Given the description of an element on the screen output the (x, y) to click on. 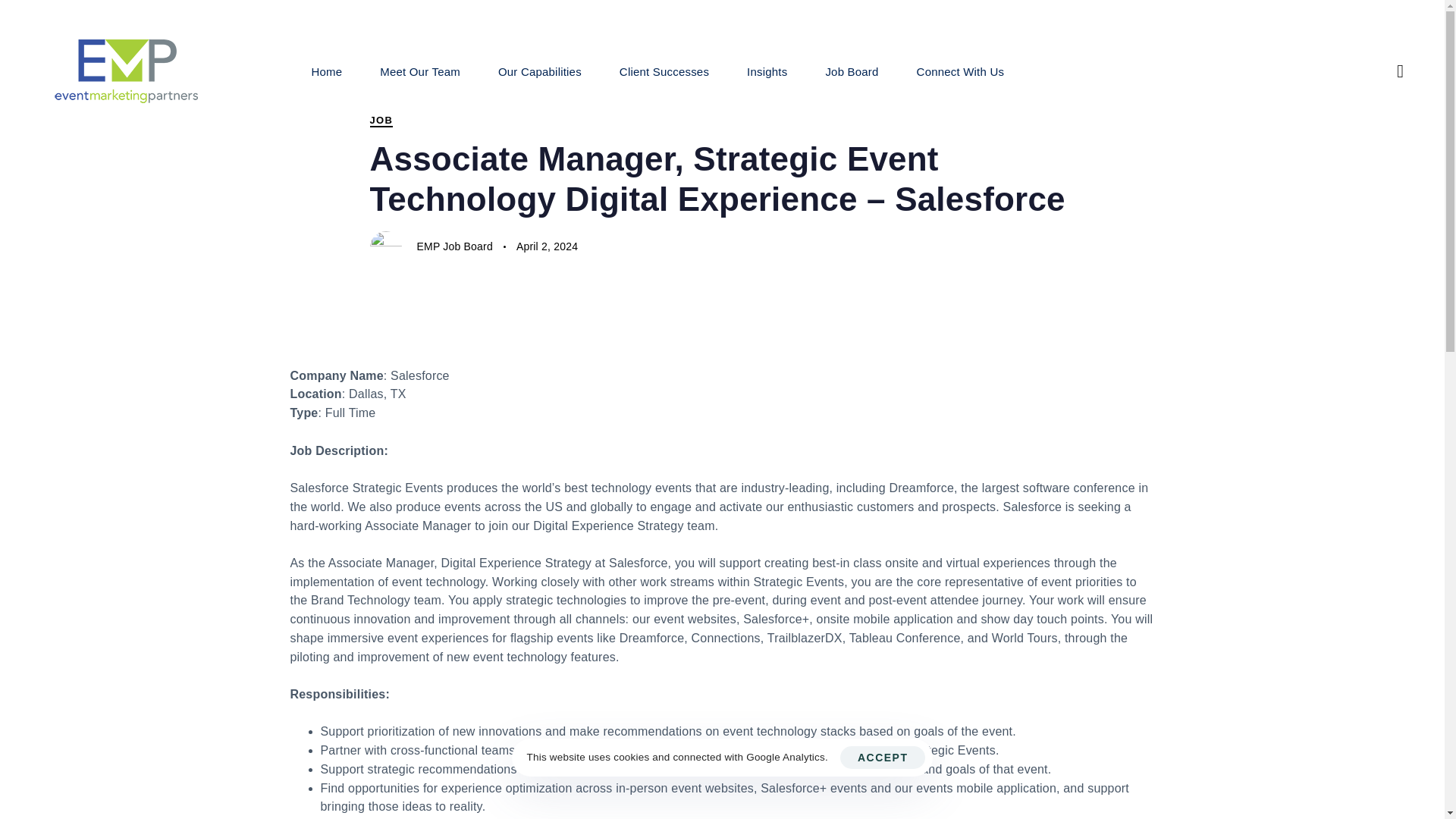
Client Successes (663, 70)
EMP Job Board (454, 246)
Our Capabilities (539, 70)
Connect With Us  (962, 70)
JOB (381, 120)
Meet Our Team (420, 70)
Posts by EMP Job Board (454, 246)
April 2, 2024 (547, 246)
